Given the description of an element on the screen output the (x, y) to click on. 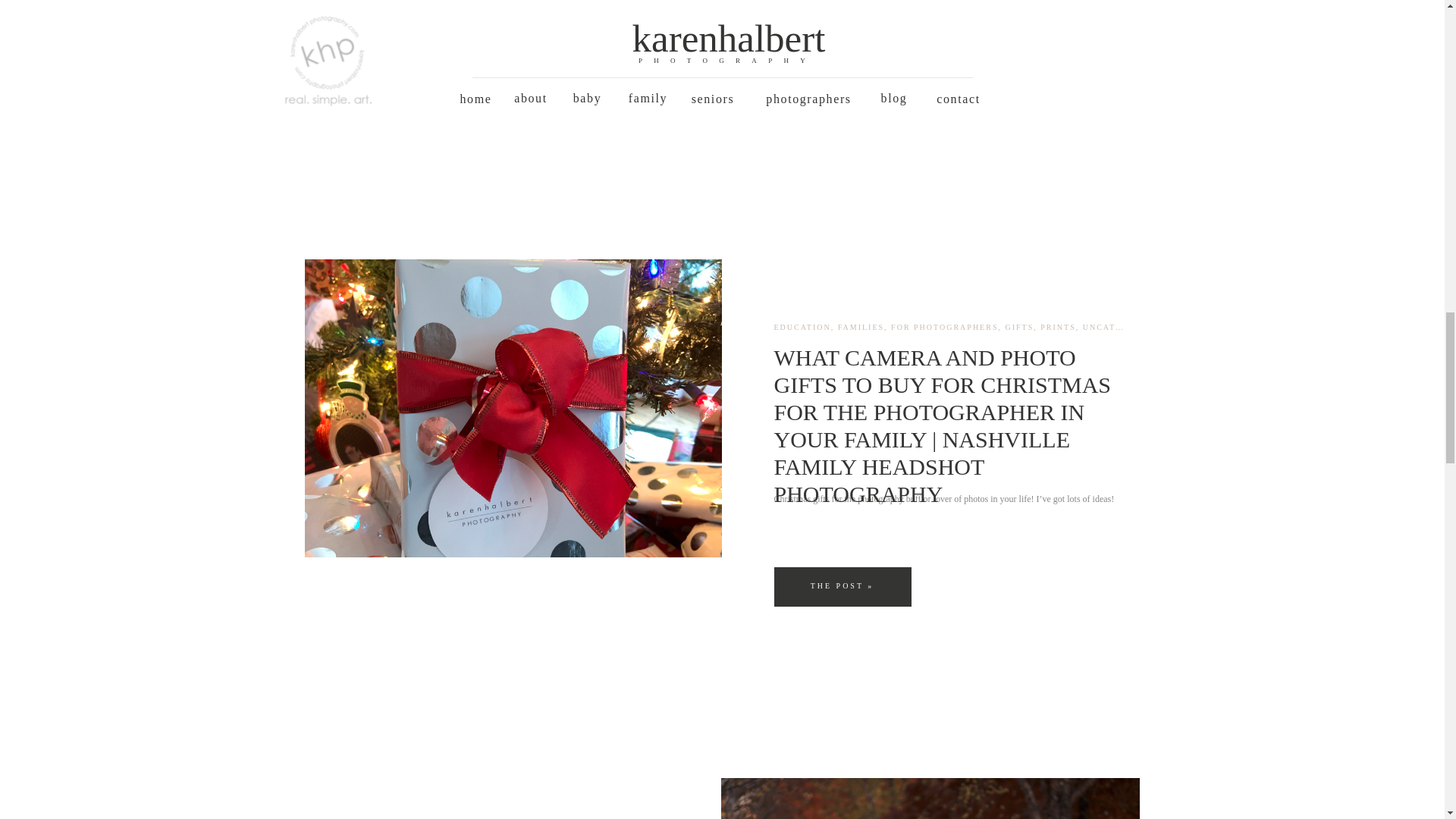
When to book your Spring family outdoor session in Nashville (371, 66)
When to book your Spring family outdoor session in Nashville (929, 47)
When to book your Spring family outdoor session in Nashville (371, 67)
